Given the description of an element on the screen output the (x, y) to click on. 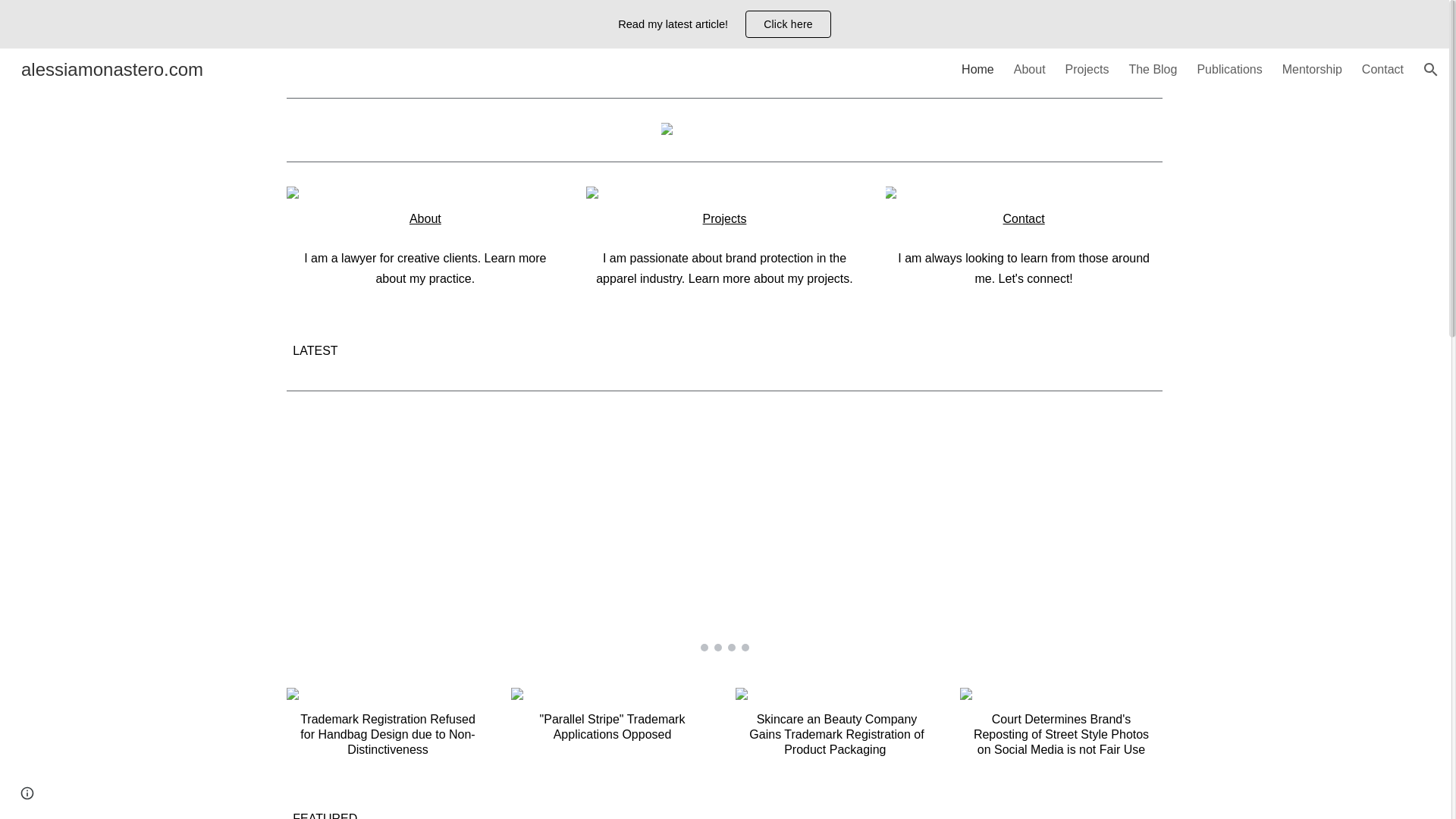
Mentorship (1312, 69)
Click here (788, 23)
About (425, 218)
The Blog (1152, 69)
Contact (1024, 218)
Projects (1087, 69)
Home (977, 69)
About (1029, 69)
Contact (1382, 69)
alessiamonastero.com (111, 67)
Publications (1229, 69)
Projects (724, 218)
Click here (787, 23)
